Given the description of an element on the screen output the (x, y) to click on. 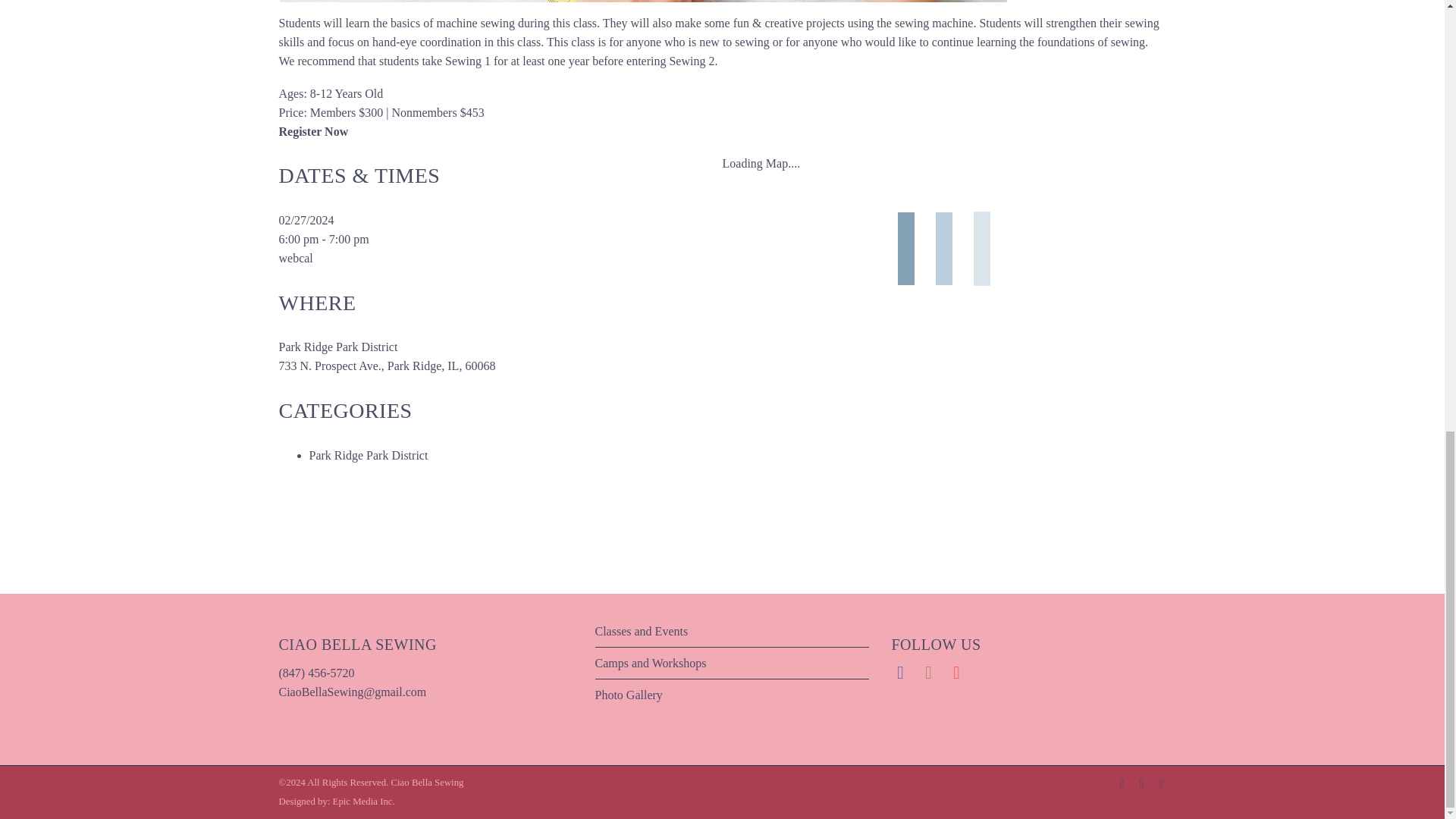
Camps and Workshops (650, 662)
Classes and Events (640, 631)
Facebook (1122, 784)
Pinterest (1161, 784)
Park Ridge Park District (368, 454)
Instagram (1141, 784)
Park Ridge Park District (338, 346)
webcal (296, 257)
Photo Gallery (628, 694)
Register Now (314, 131)
